Given the description of an element on the screen output the (x, y) to click on. 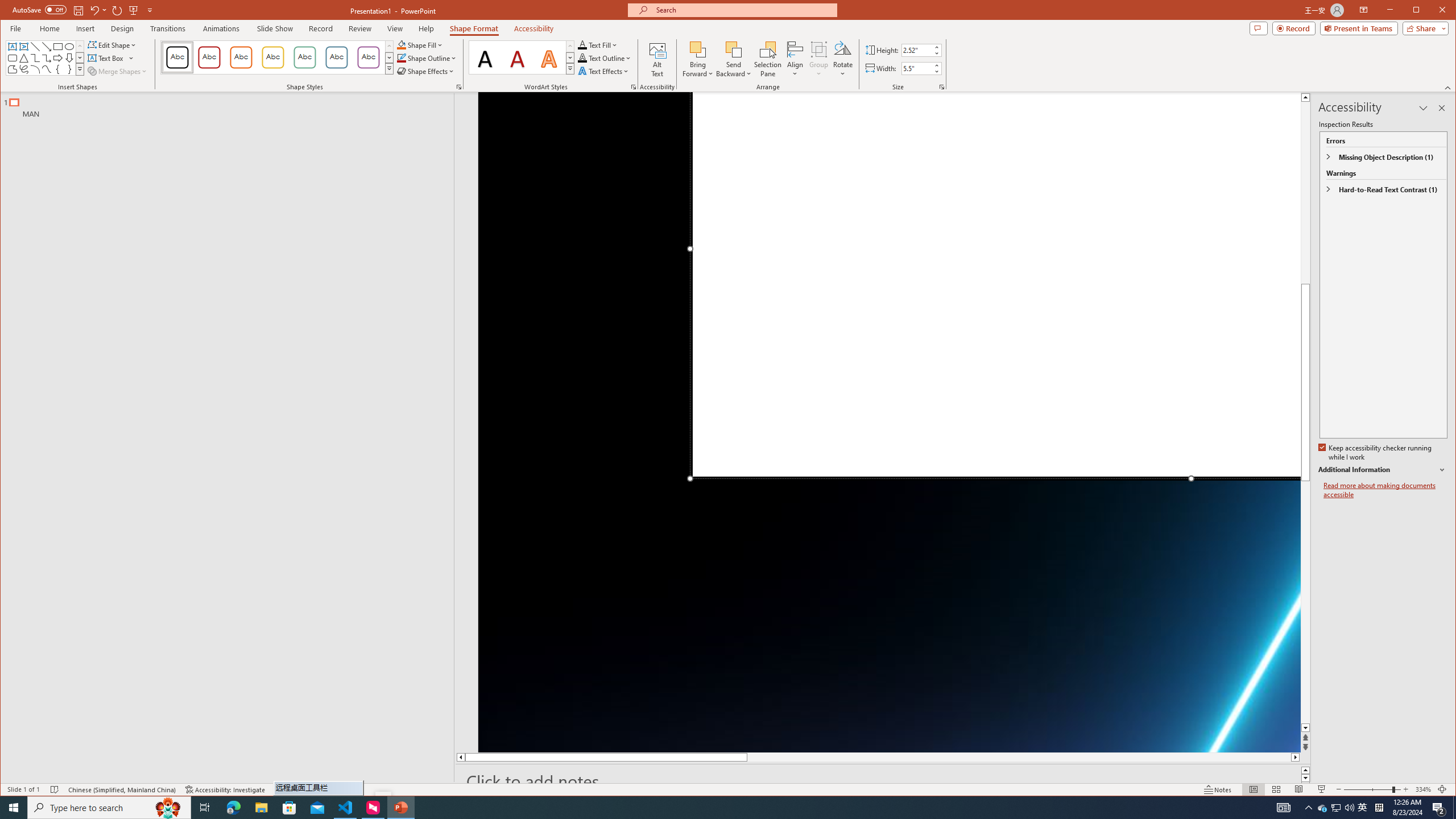
Slide Notes (882, 780)
